Given the description of an element on the screen output the (x, y) to click on. 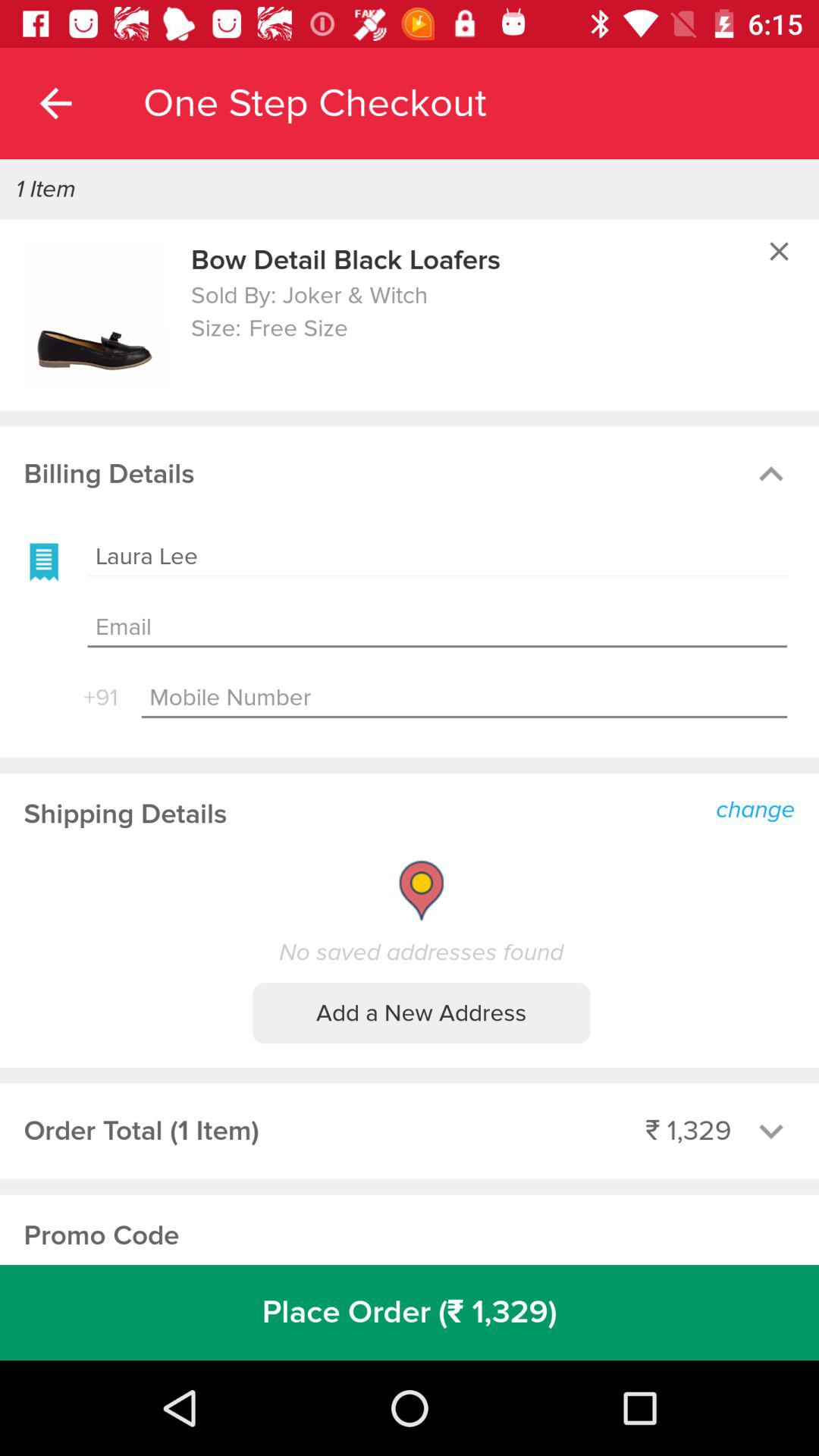
choose icon to the left of bow detail black item (95, 314)
